Given the description of an element on the screen output the (x, y) to click on. 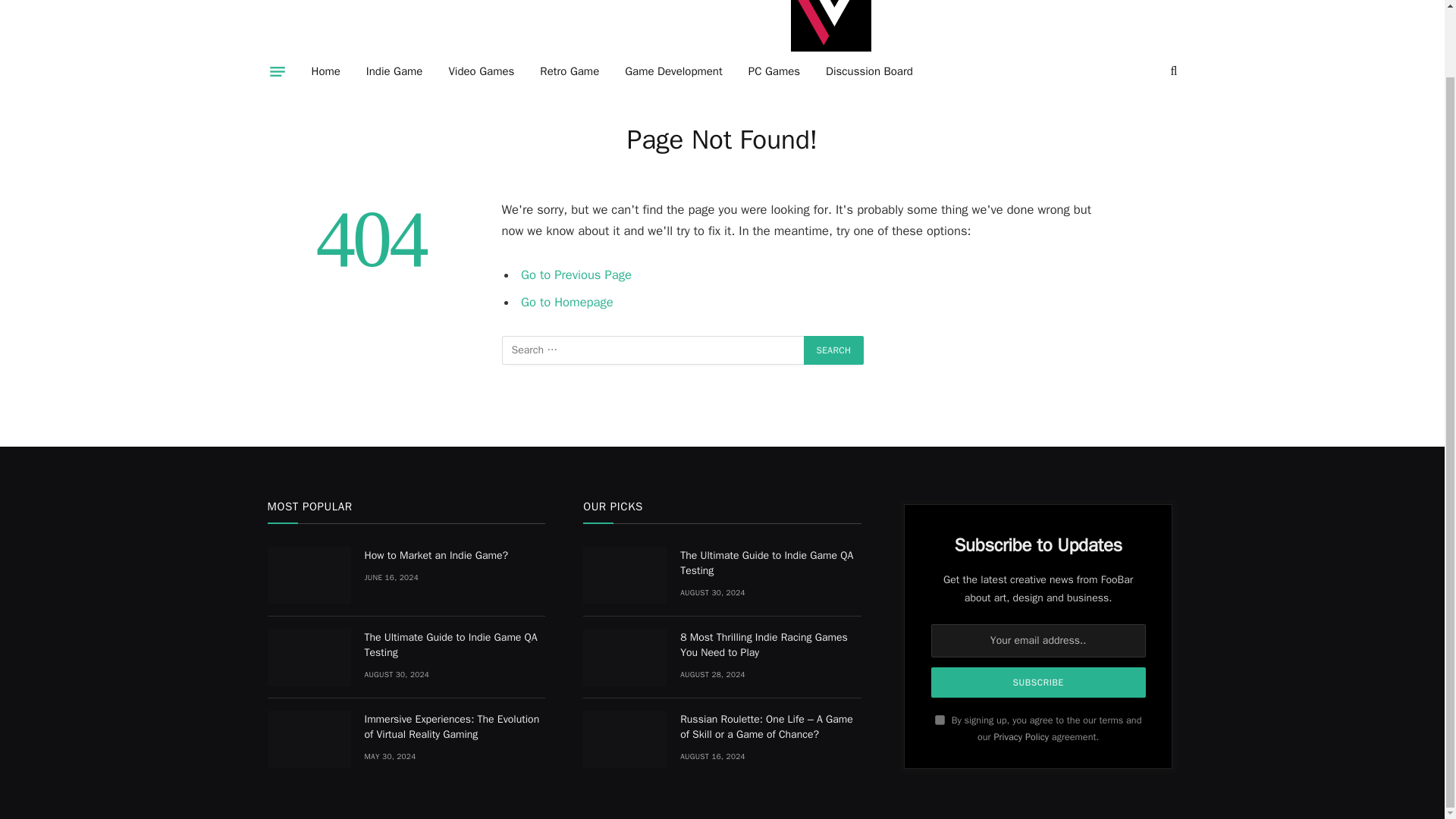
on (939, 719)
Retro Game (569, 70)
Discussion Board (869, 70)
How to Market an Indie Game? (454, 555)
Game Development (673, 70)
Search (833, 349)
Search (833, 349)
How to Market an Indie Game? (308, 575)
Indie Devchronicles (830, 29)
Subscribe (1038, 682)
